Given the description of an element on the screen output the (x, y) to click on. 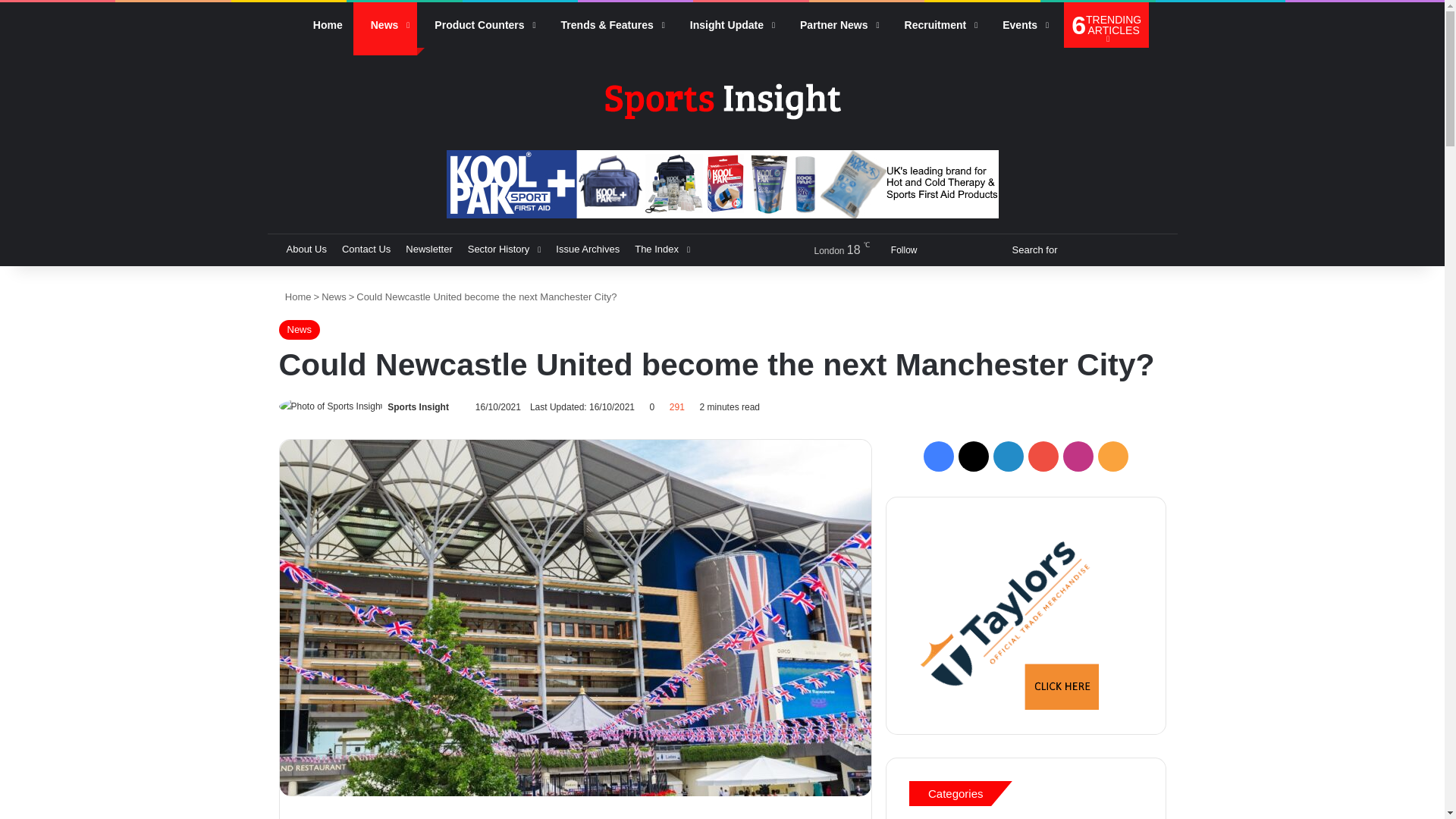
News (385, 24)
Recruitment (935, 24)
Partner News (834, 24)
Home (324, 24)
Insight Update (727, 24)
Product Counters (479, 24)
Sports Insight (417, 407)
Scattered Clouds (827, 250)
Events (1021, 24)
Sports Insight (721, 100)
Search for (1106, 24)
